Given the description of an element on the screen output the (x, y) to click on. 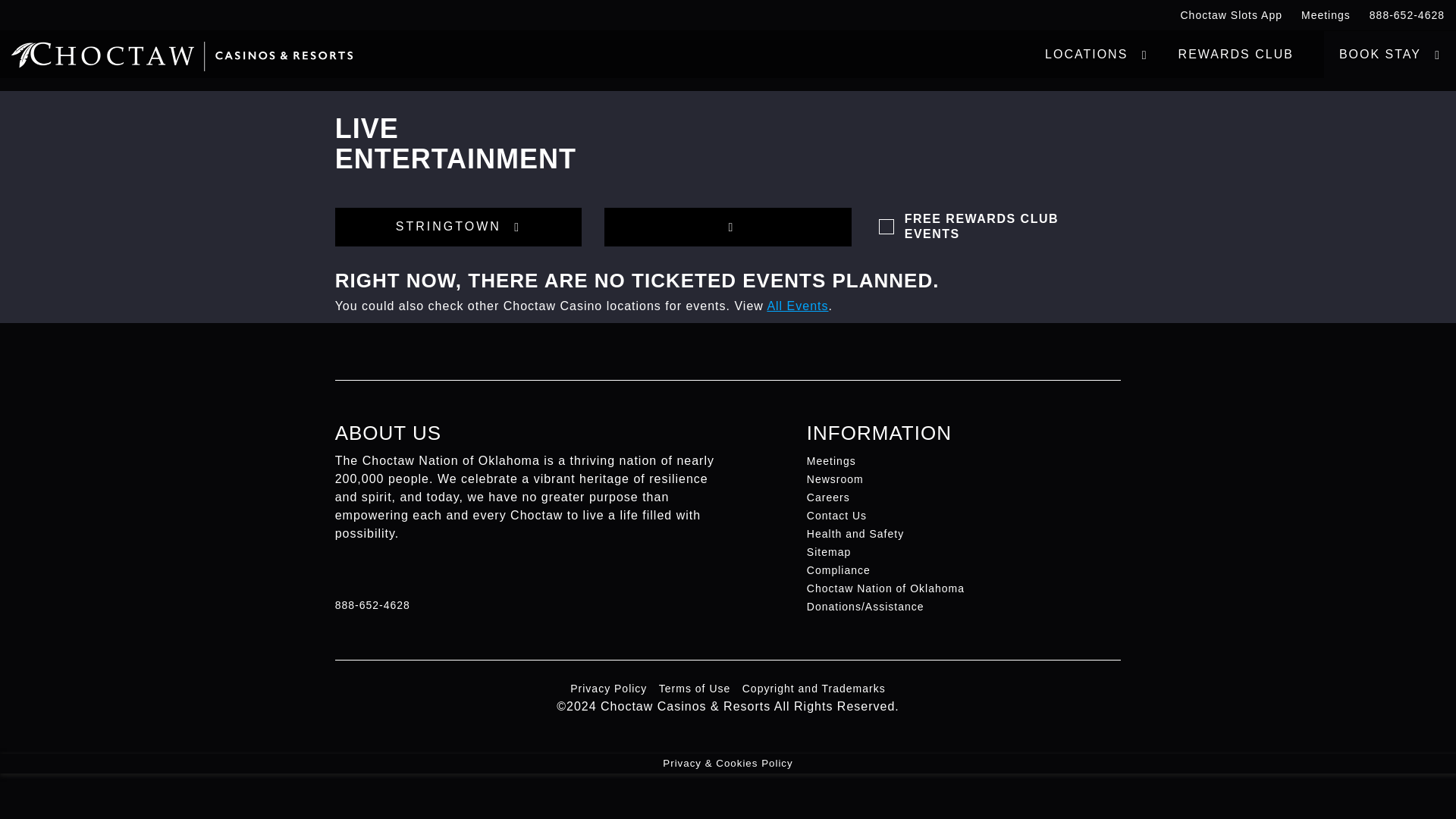
Locations (1096, 54)
Meetings (1324, 15)
REWARDS CLUB (1235, 54)
888-652-4628 (1404, 15)
LOCATIONS (1096, 54)
Choctaw Slots App (1229, 15)
Choctaw Casinos (181, 49)
REWARDS CLUB (1235, 54)
